Given the description of an element on the screen output the (x, y) to click on. 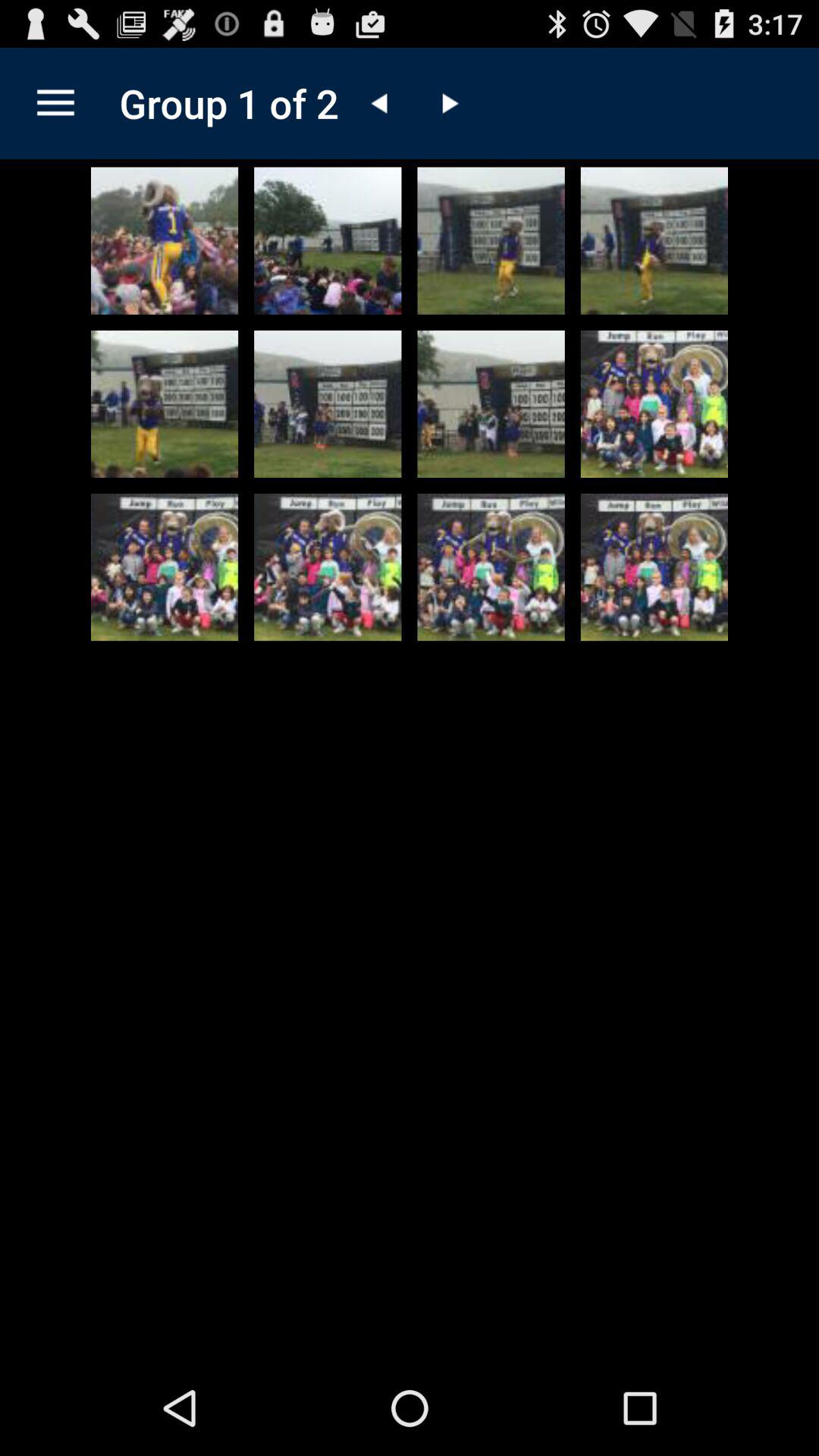
select the photo (654, 240)
